Given the description of an element on the screen output the (x, y) to click on. 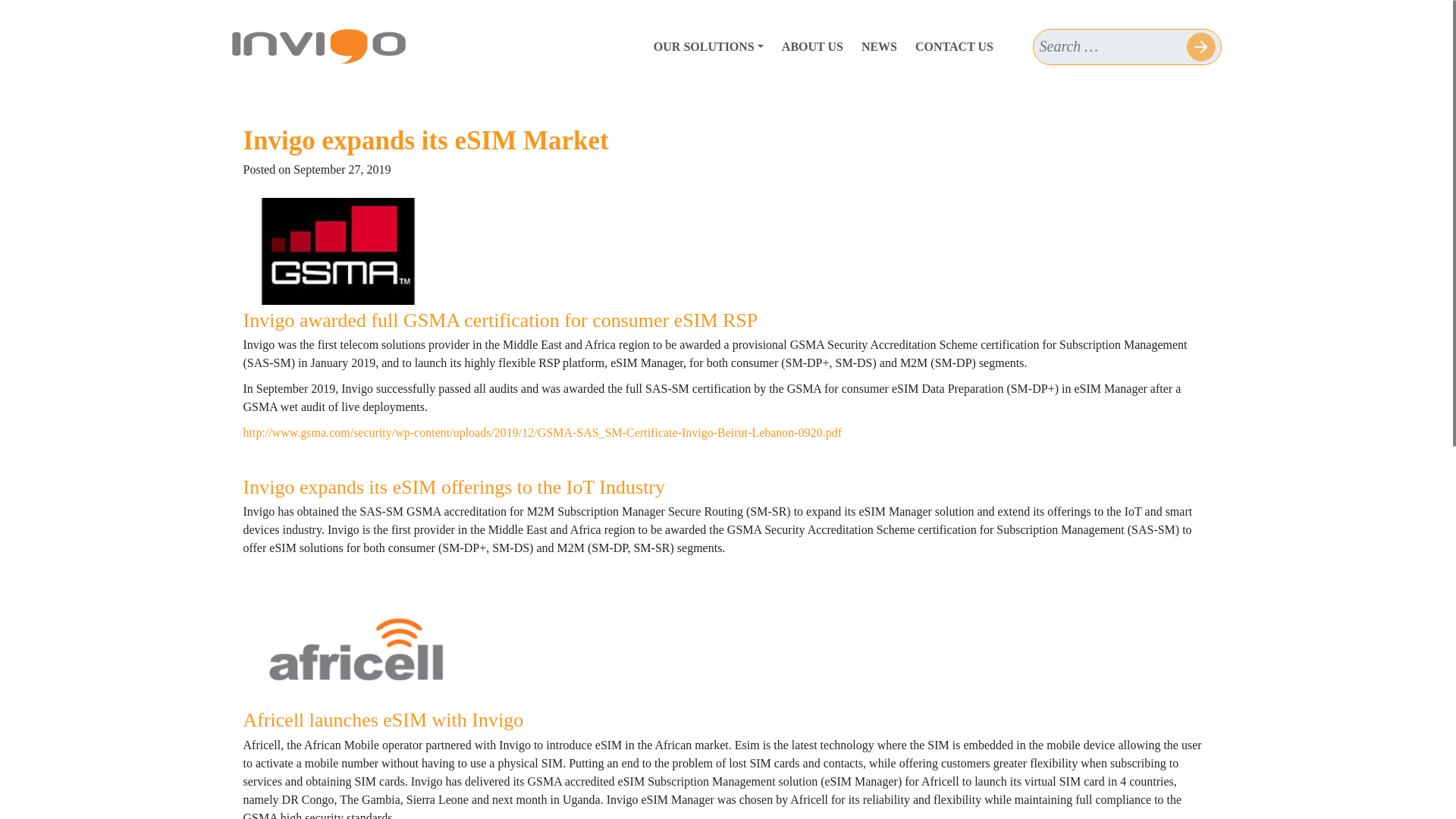
Our Solutions (709, 46)
About Us (812, 46)
Invigo expands its eSIM Market 1 (337, 251)
Search (1200, 46)
Search (1200, 46)
OUR SOLUTIONS (709, 46)
Search (1200, 46)
Invigo expands its eSIM Market 2 (356, 647)
Contact Us (954, 46)
NEWS (878, 46)
